Given the description of an element on the screen output the (x, y) to click on. 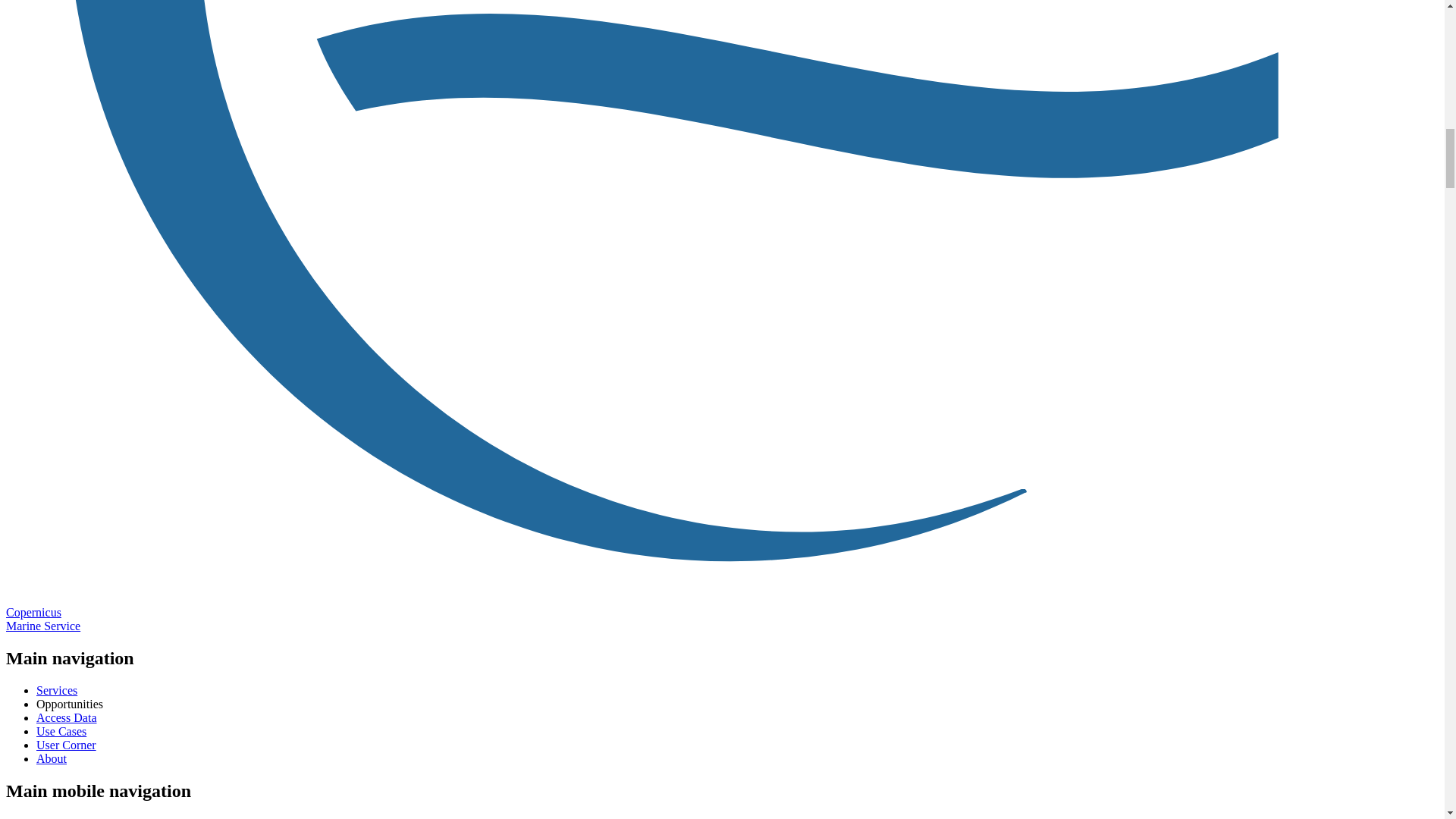
Access Data (66, 717)
Services (56, 689)
User Corner (66, 744)
About (51, 758)
Use Cases (60, 730)
